Given the description of an element on the screen output the (x, y) to click on. 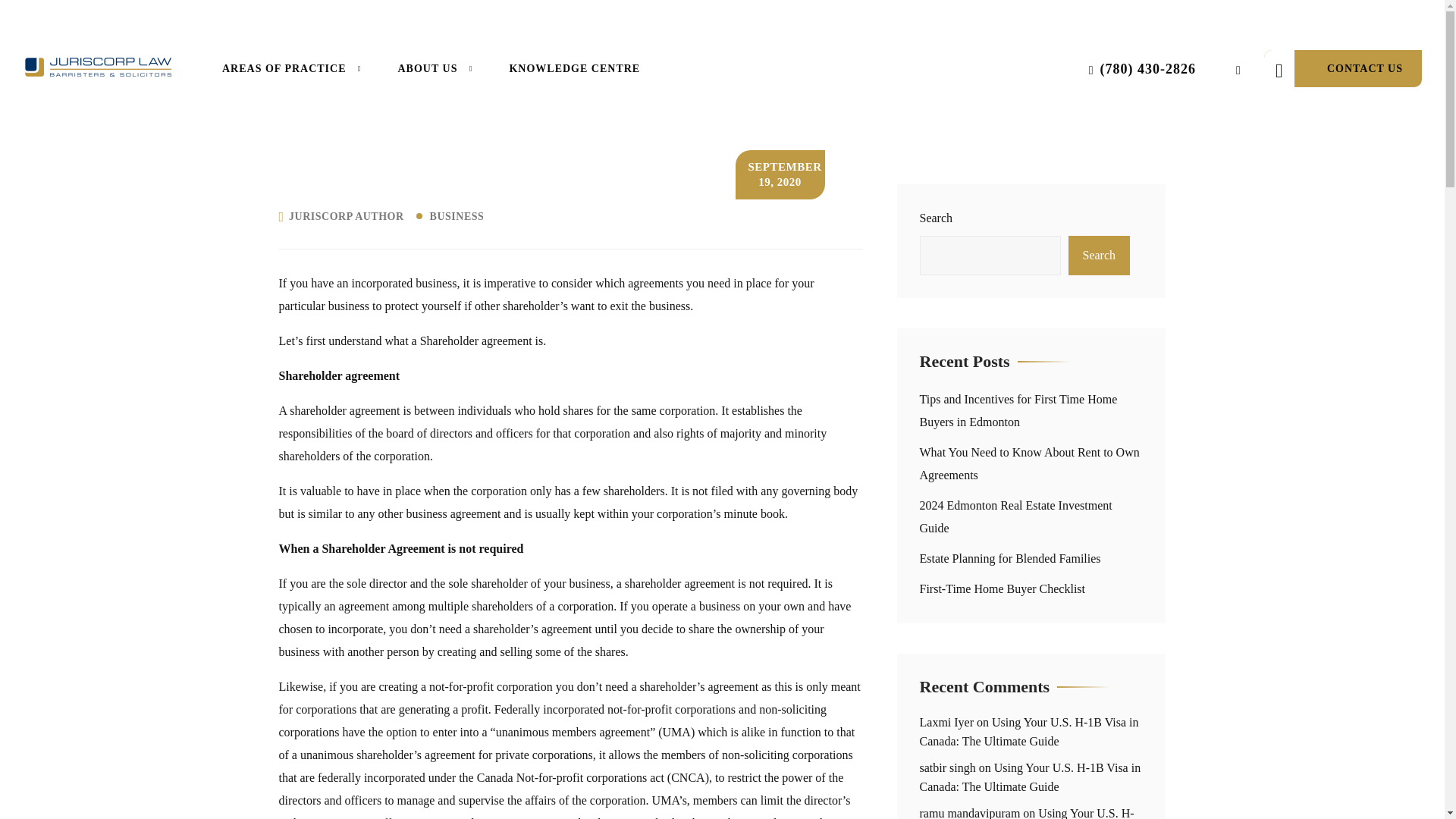
Estate Planning for Blended Families (1009, 558)
Tips and Incentives for First Time Home Buyers in Edmonton (1017, 410)
AREAS OF PRACTICE (291, 68)
JURISCORP AUTHOR (346, 216)
ABOUT US (434, 68)
SEPTEMBER 19, 2020 (780, 174)
First-Time Home Buyer Checklist (1001, 588)
BUSINESS (458, 216)
KNOWLEDGE CENTRE (574, 68)
Search (1098, 255)
CONTACT US (1342, 67)
2024 Edmonton Real Estate Investment Guide (1015, 516)
Using Your U.S. H-1B Visa in Canada: The Ultimate Guide (1028, 731)
What You Need to Know About Rent to Own Agreements (1028, 463)
